Given the description of an element on the screen output the (x, y) to click on. 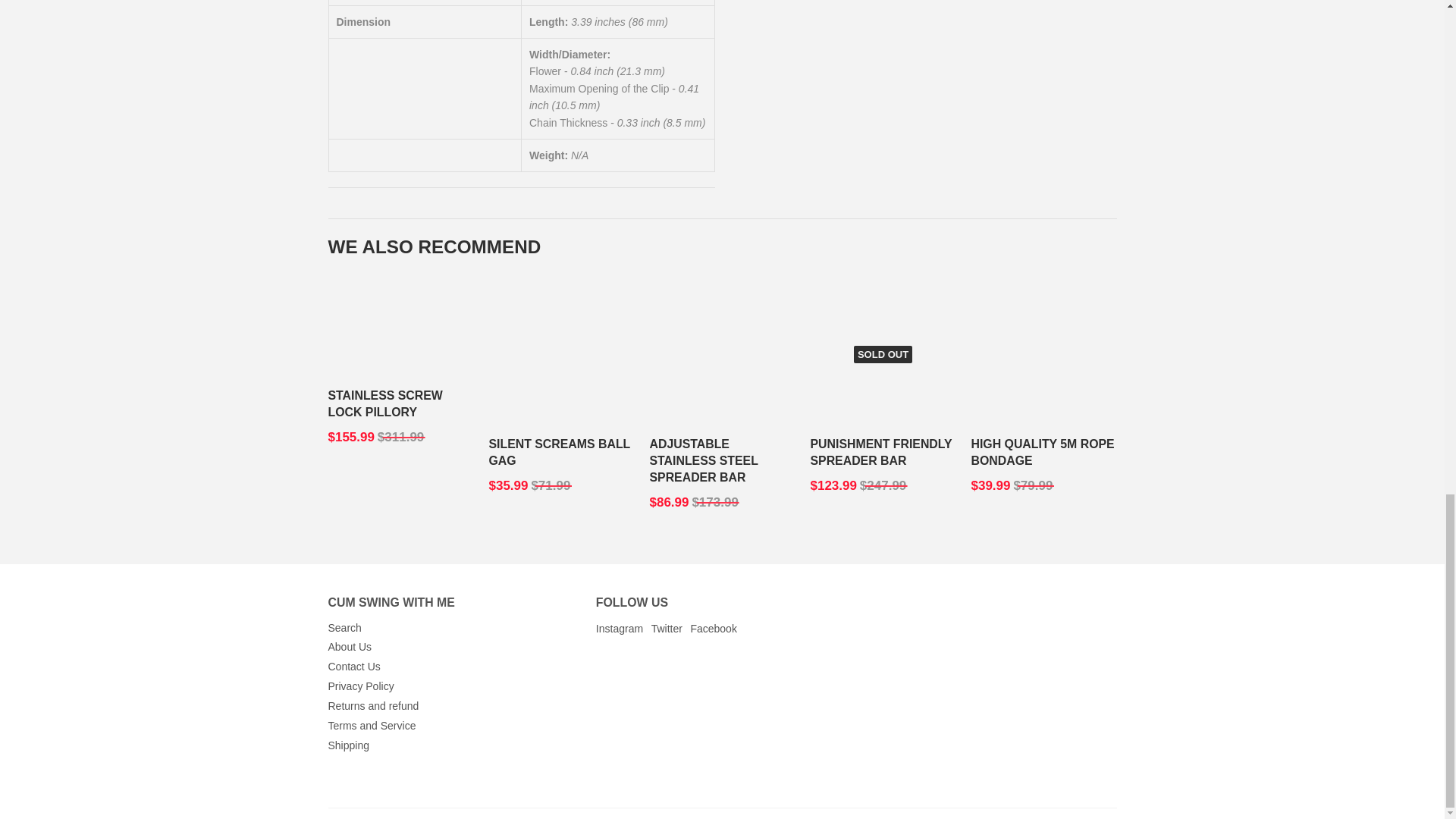
Cum Swing With Me on Facebook (668, 629)
Cum Swing With Me on Twitter (637, 629)
Cum Swing With Me on Instagram (606, 629)
